Given the description of an element on the screen output the (x, y) to click on. 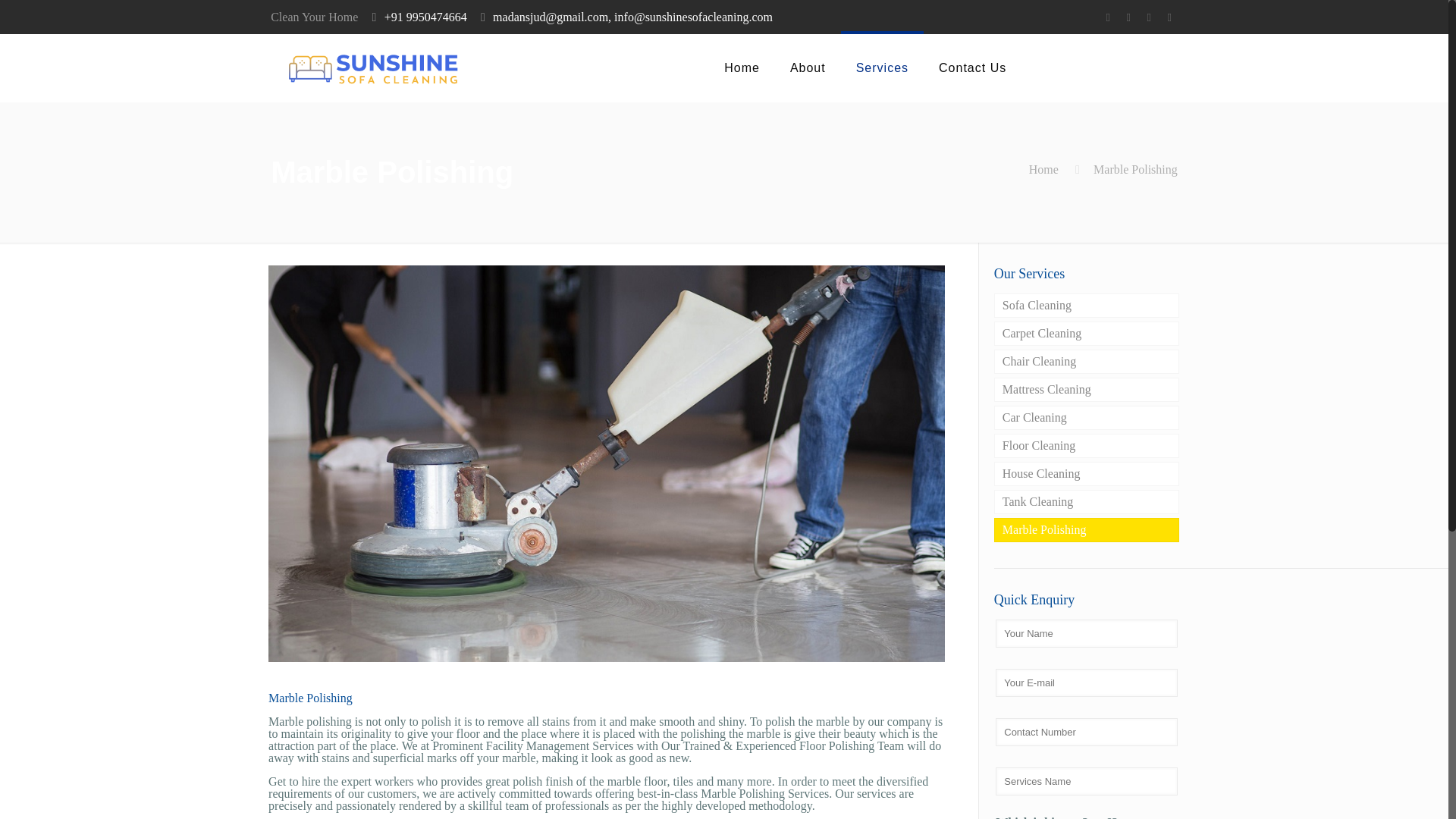
Sofa Cleaning (1086, 305)
About (807, 68)
Sunshine Sofa Cleaning (376, 68)
Floor Cleaning (1086, 445)
Carpet Cleaning (1086, 333)
Car Cleaning (1086, 417)
YouTube (1169, 17)
Chair Cleaning (1086, 361)
Marble Polishing (1086, 529)
Services (882, 68)
